Given the description of an element on the screen output the (x, y) to click on. 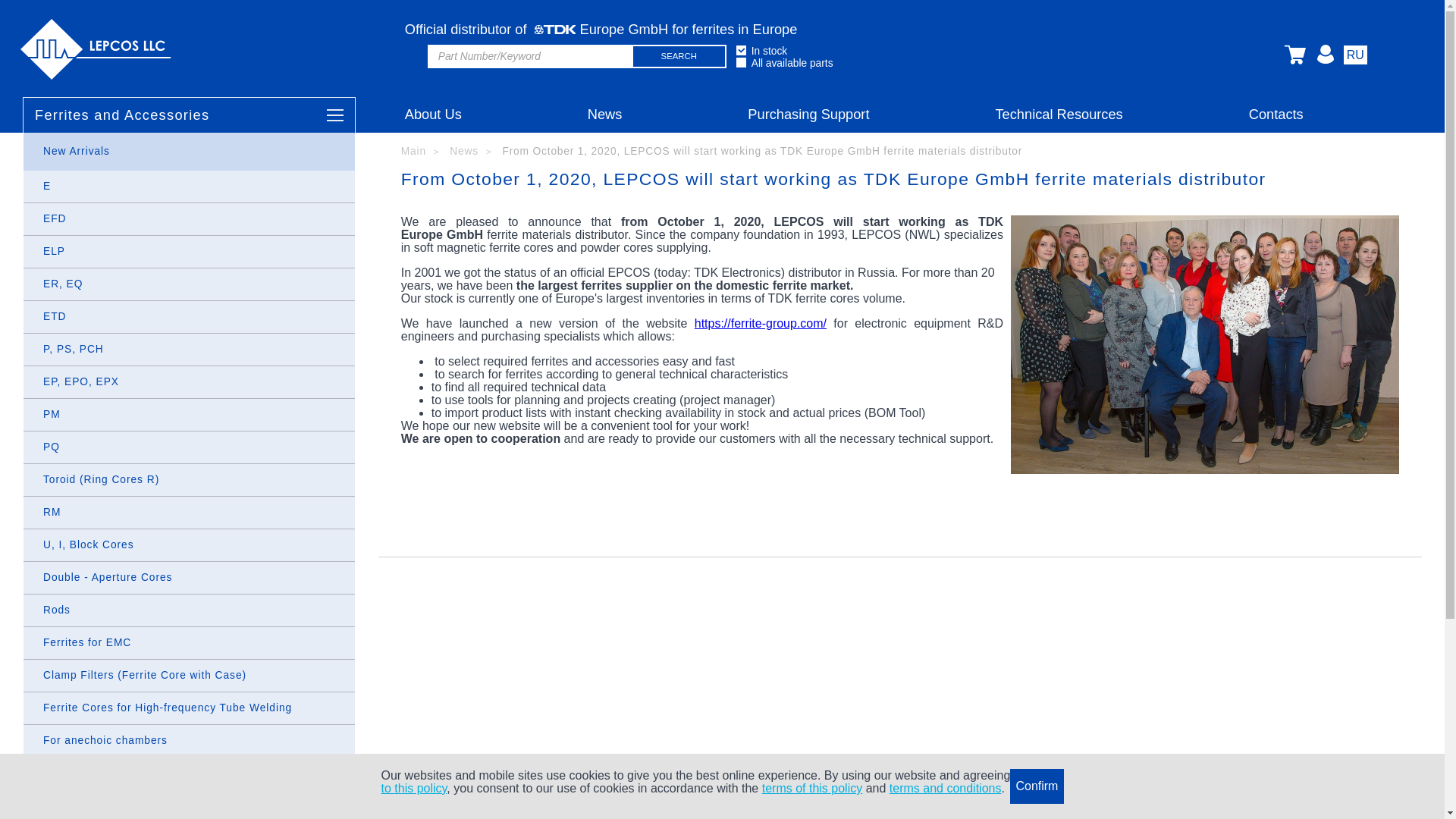
Design Tools (1058, 148)
New Arrivals (189, 151)
Tech Library (1058, 148)
Main (420, 151)
terms and conditions (945, 788)
to this policy (413, 788)
Delivery Information (808, 148)
ELP (189, 251)
News (470, 151)
Double - Aperture Cores (189, 577)
For anechoic chambers (189, 740)
Technical documentation (1059, 155)
Confirm (1036, 786)
U, I, Block Cores (189, 545)
Main (420, 151)
